Given the description of an element on the screen output the (x, y) to click on. 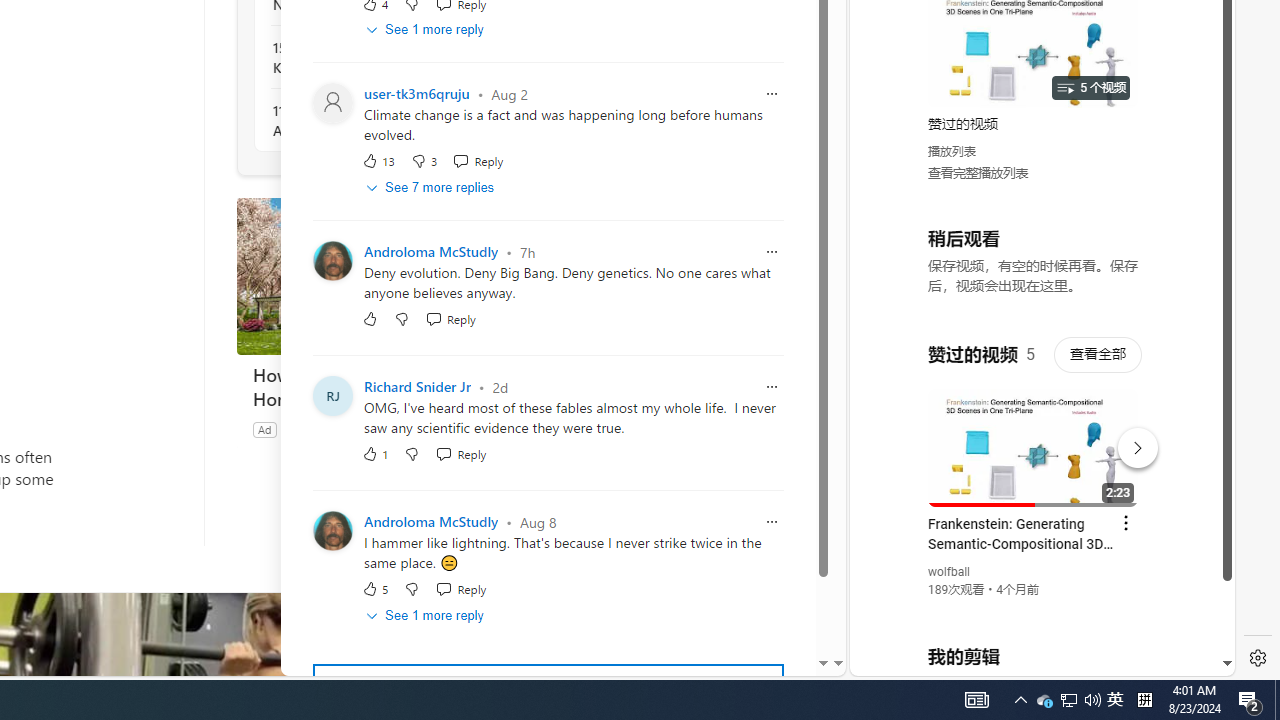
you (1034, 609)
US[ju] (917, 660)
1 Like (375, 454)
#you (1034, 439)
user-tk3m6qruju (416, 94)
See 7 more replies (431, 187)
See more comments (548, 687)
Profile Picture (333, 531)
Profile Picture (333, 531)
